Given the description of an element on the screen output the (x, y) to click on. 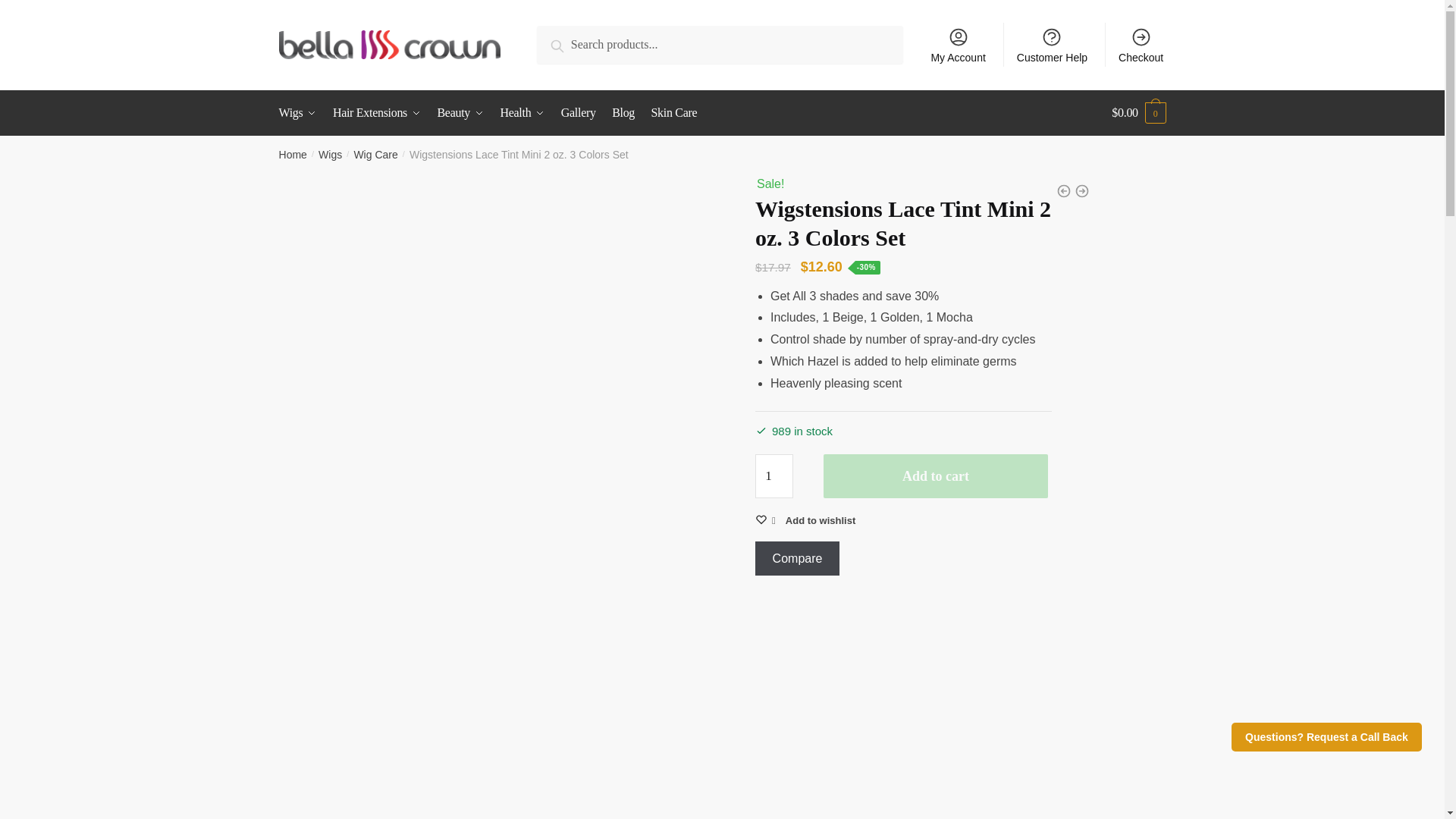
Skin Care (674, 112)
Wigs (330, 154)
Search (572, 42)
View your shopping cart (1139, 112)
Hair Extensions (376, 112)
Customer Help (1052, 44)
Wigs (301, 112)
Health (521, 112)
Gallery (578, 112)
Checkout (1141, 44)
